Given the description of an element on the screen output the (x, y) to click on. 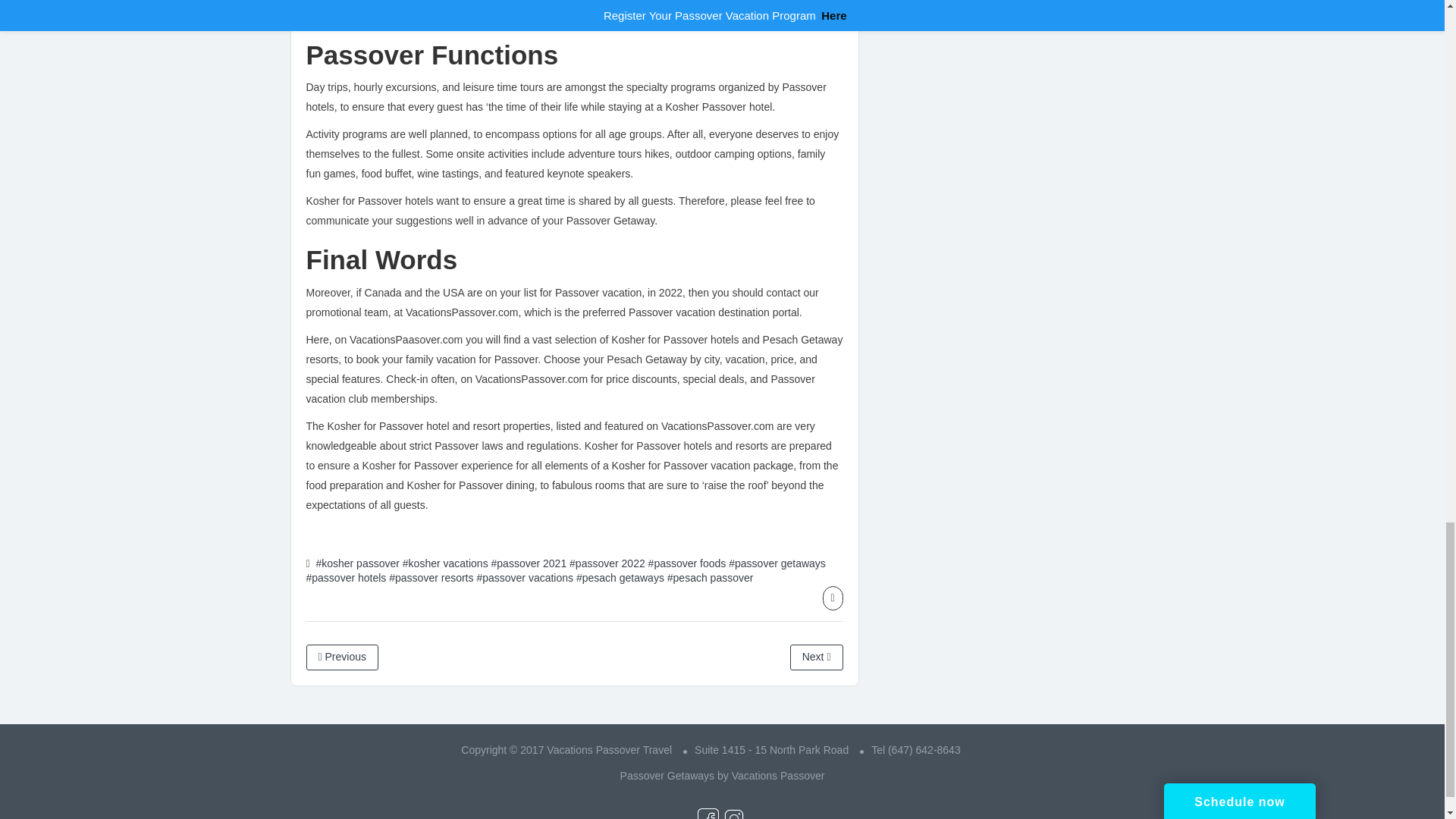
Next (816, 657)
Previous (341, 657)
